Given the description of an element on the screen output the (x, y) to click on. 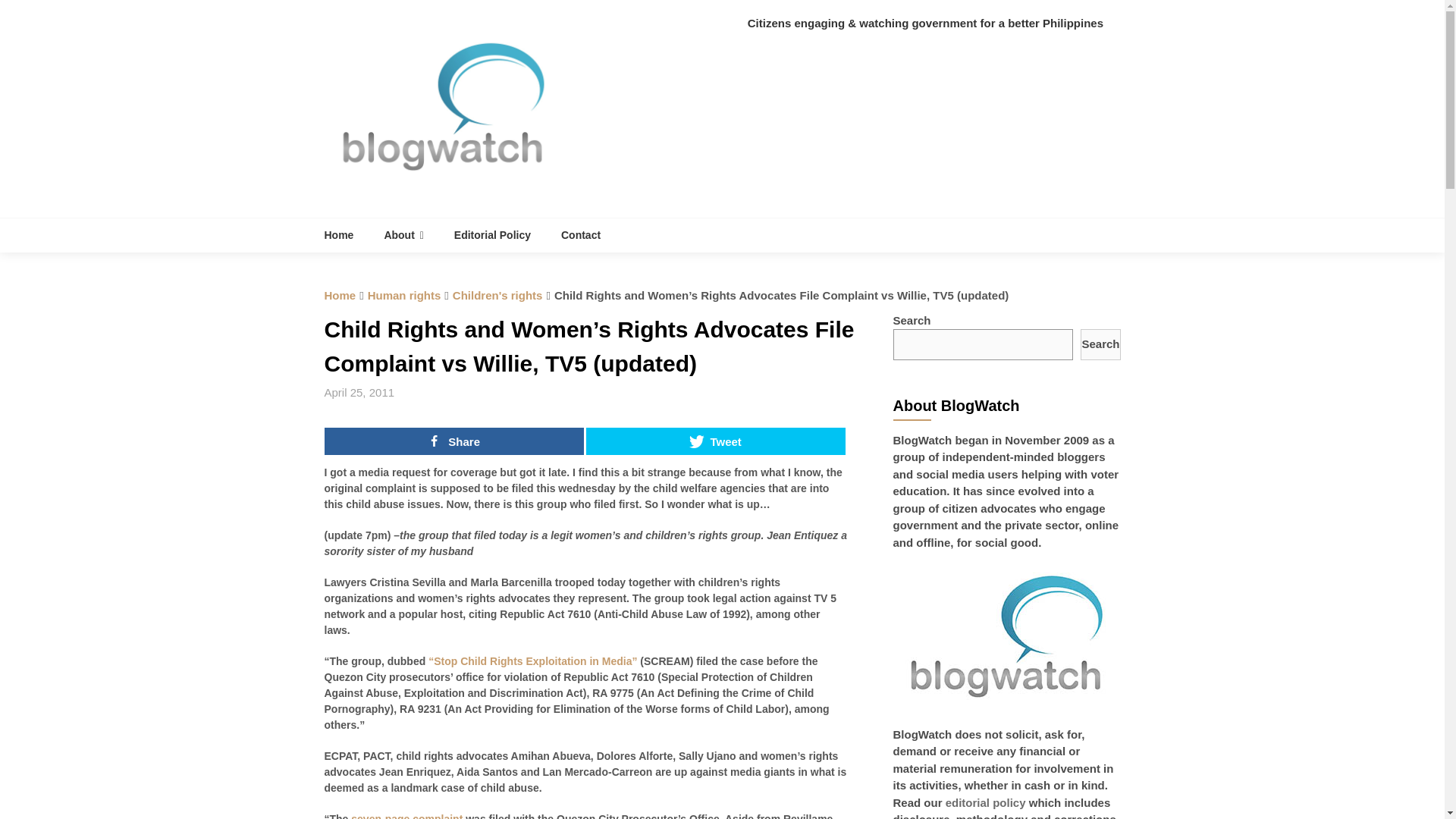
Home (340, 295)
Human rights (404, 295)
Tweet (715, 441)
Editorial Policy (492, 235)
About (403, 235)
Search (1099, 344)
Children's rights (497, 295)
Home (346, 235)
Share (453, 441)
seven-page complaint (406, 816)
editorial policy (985, 802)
Contact (580, 235)
